Given the description of an element on the screen output the (x, y) to click on. 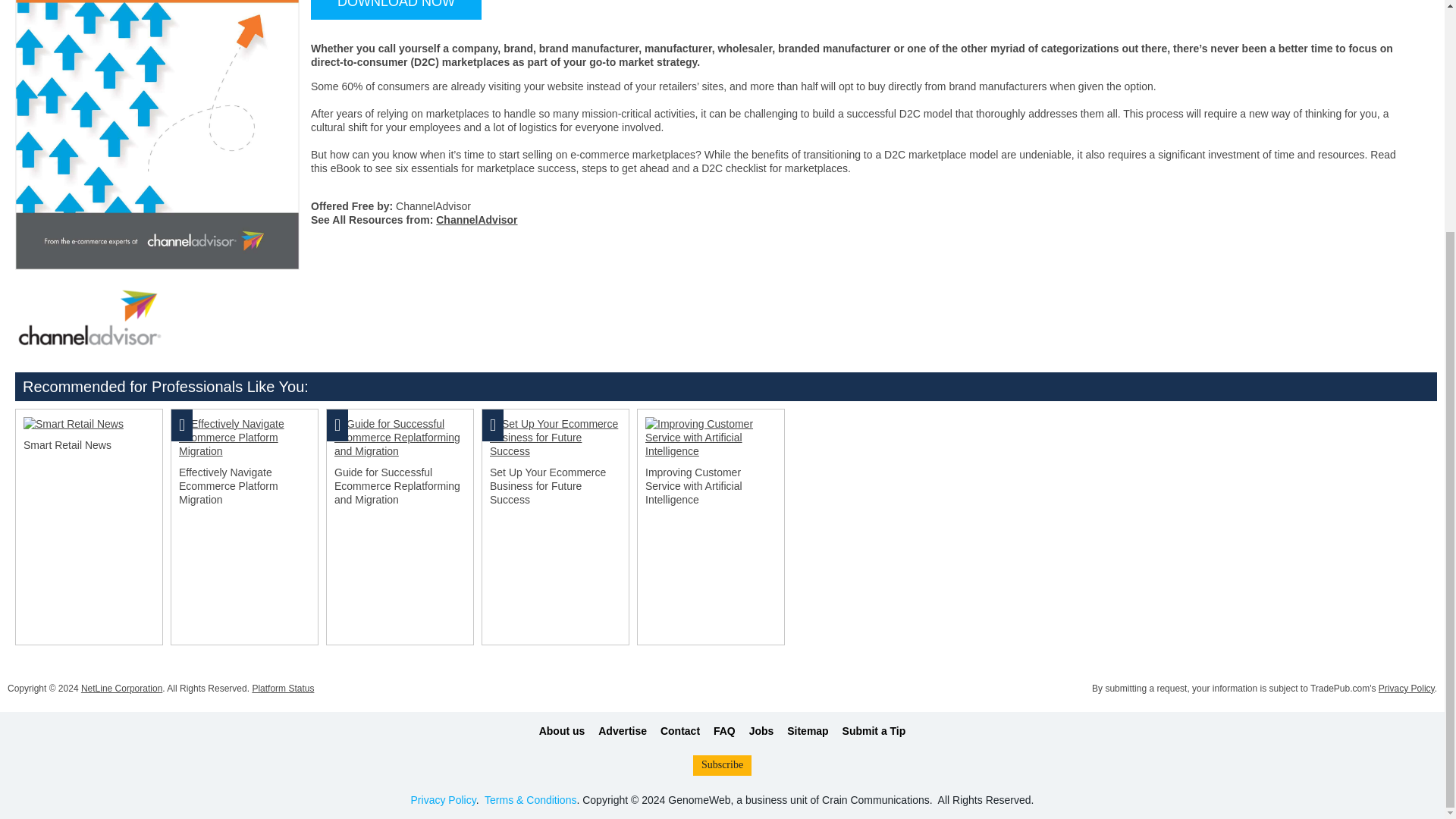
Get answers to frequently-asked questions. (724, 730)
Privacy Policy (443, 799)
A text sitemap of the website. (807, 730)
Terms and conditions (530, 799)
